Given the description of an element on the screen output the (x, y) to click on. 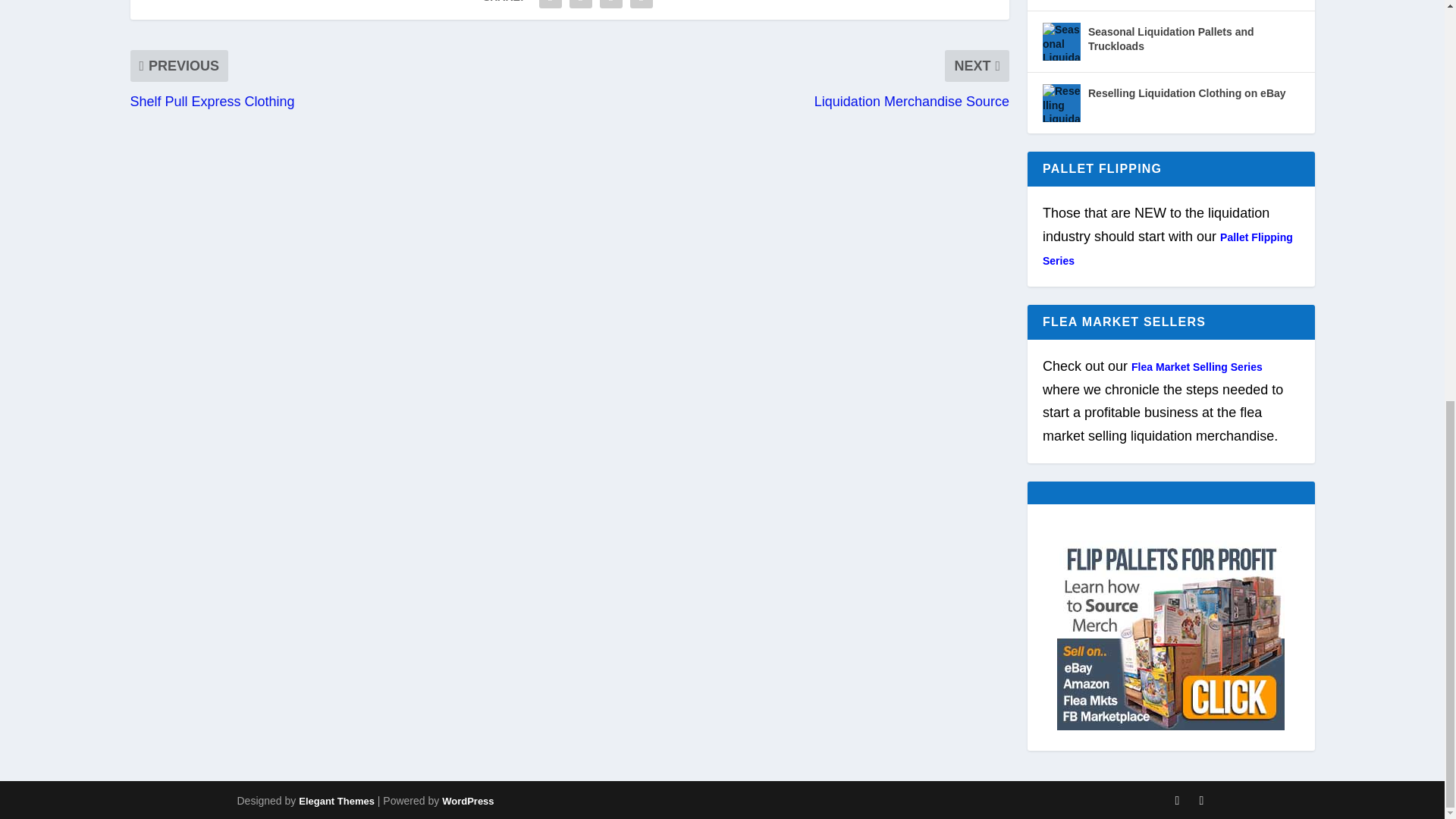
Share "Home Decor Pallets" via Facebook (550, 6)
Share "Home Decor Pallets" via Email (641, 6)
Seasonal Liquidation Pallets and Truckloads (1061, 41)
Premium WordPress Themes (336, 800)
Reselling Liquidation Clothing on eBay (1061, 103)
Share "Home Decor Pallets" via Pinterest (580, 6)
Share "Home Decor Pallets" via LinkedIn (610, 6)
